Given the description of an element on the screen output the (x, y) to click on. 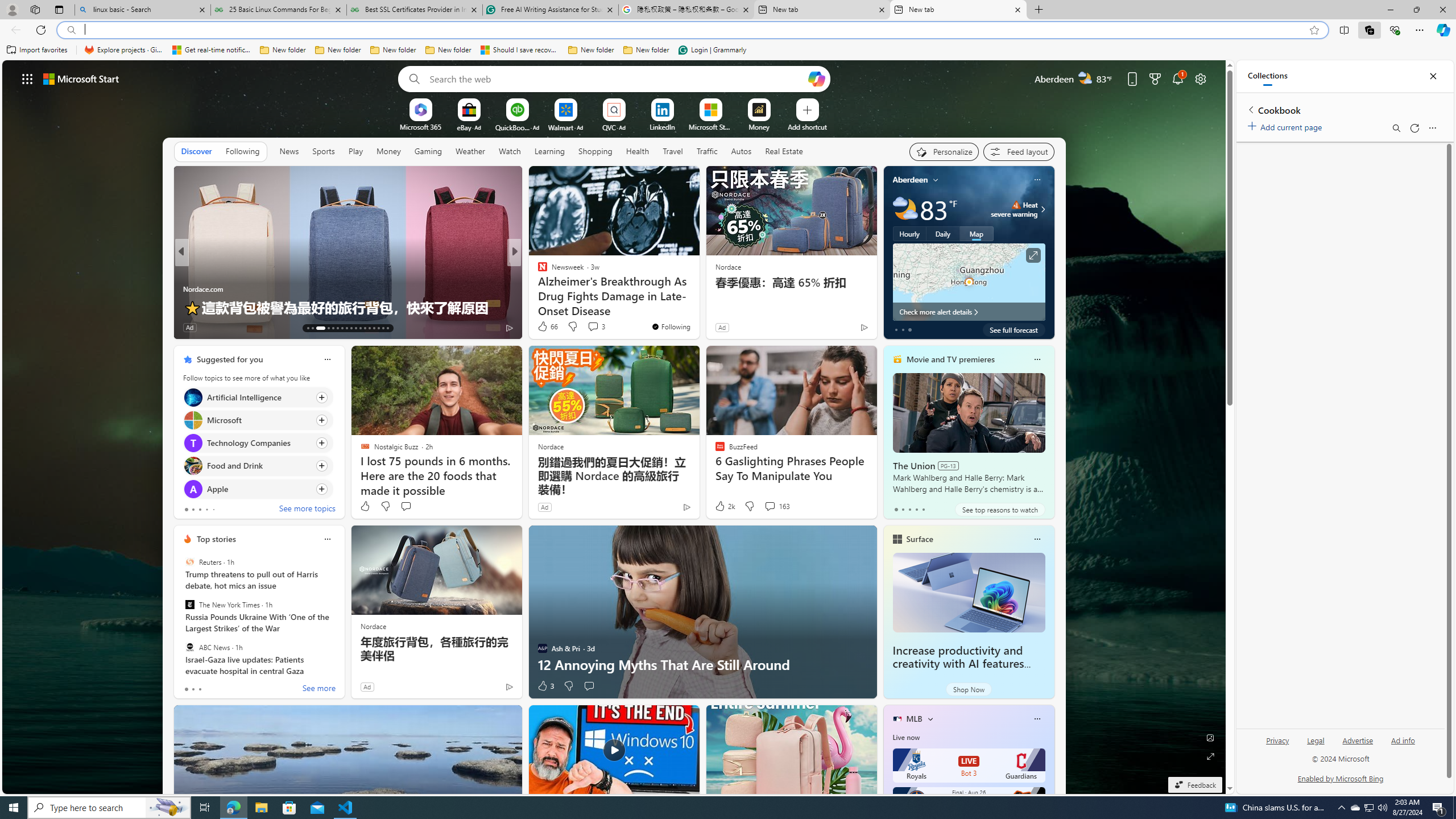
Reuters (189, 561)
7 Like (541, 327)
Click to follow topic Artificial Intelligence (257, 397)
Reader's Digest (537, 270)
Map (975, 233)
tab-4 (923, 509)
ABC News (189, 646)
Expand background (1210, 756)
55 Like (543, 327)
My location (936, 179)
Autos (740, 151)
How to mirror iPhone to PC (697, 307)
Artificial Intelligence (192, 397)
See top reasons to watch (999, 509)
